Given the description of an element on the screen output the (x, y) to click on. 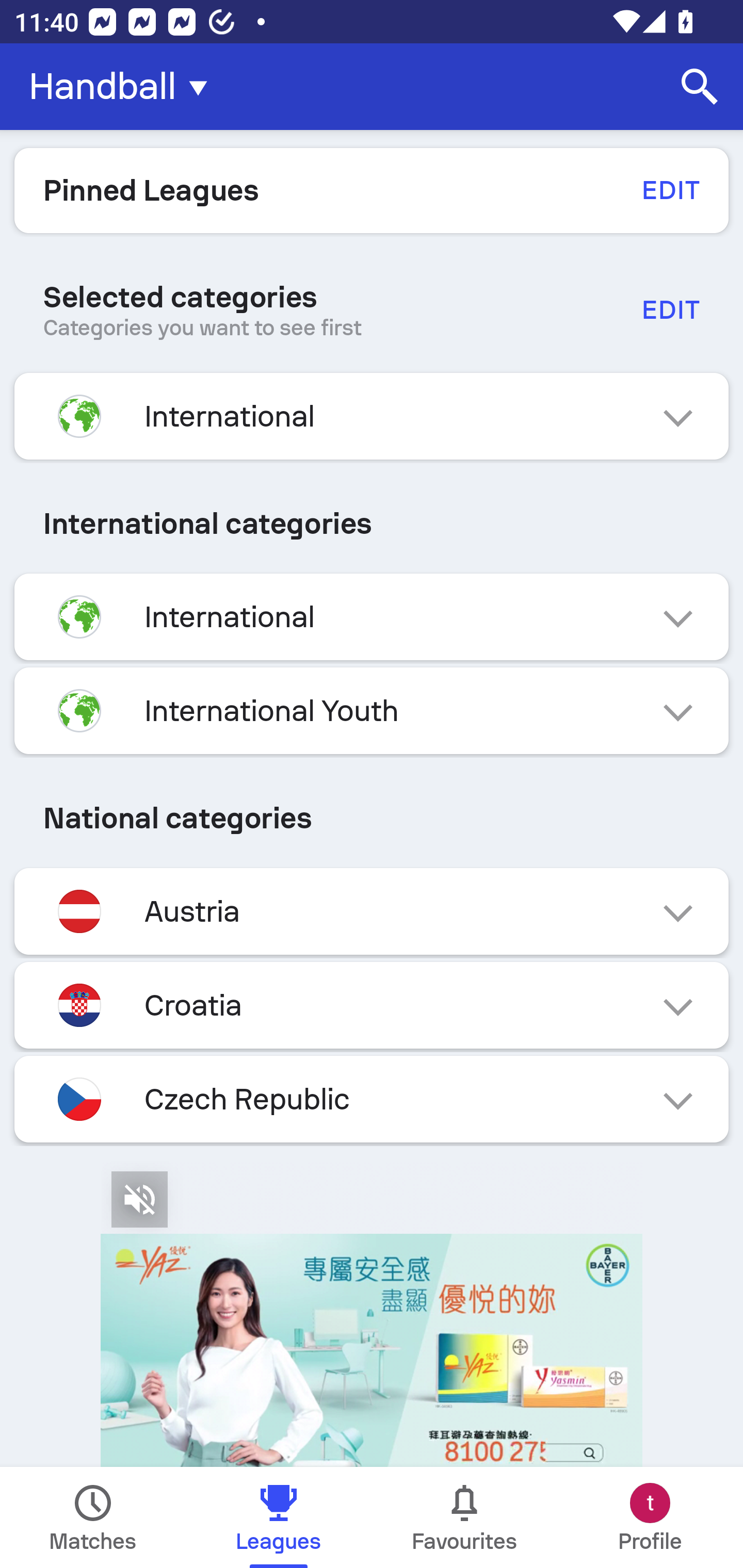
Handball (124, 86)
Search (699, 86)
Pinned Leagues EDIT (371, 190)
EDIT (670, 190)
EDIT (670, 309)
International (371, 416)
International categories (371, 523)
International (371, 616)
International Youth (371, 710)
National categories (371, 817)
Austria (371, 911)
Croatia (371, 1004)
Czech Republic (371, 1099)
Open (371, 1313)
Matches (92, 1517)
Favourites (464, 1517)
Profile (650, 1517)
